Given the description of an element on the screen output the (x, y) to click on. 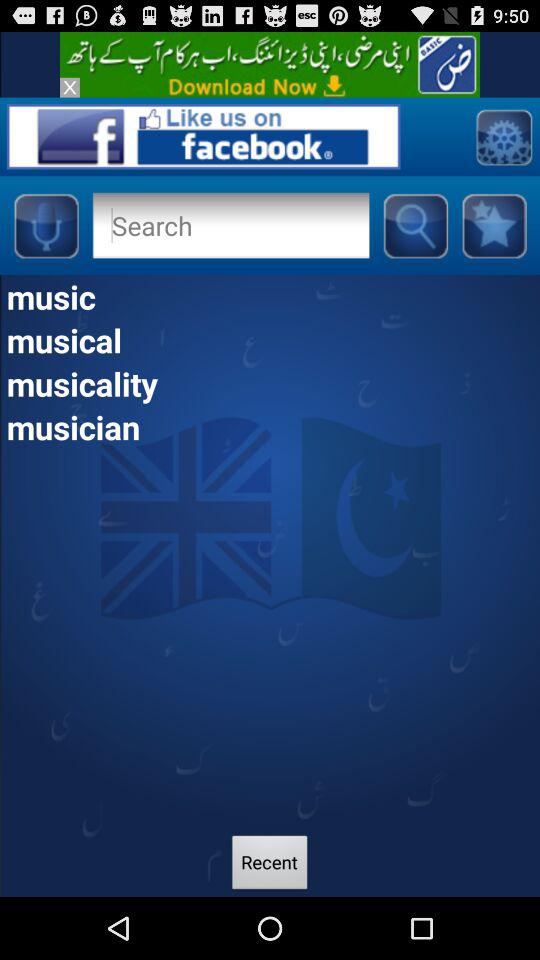
open app above music (415, 225)
